Given the description of an element on the screen output the (x, y) to click on. 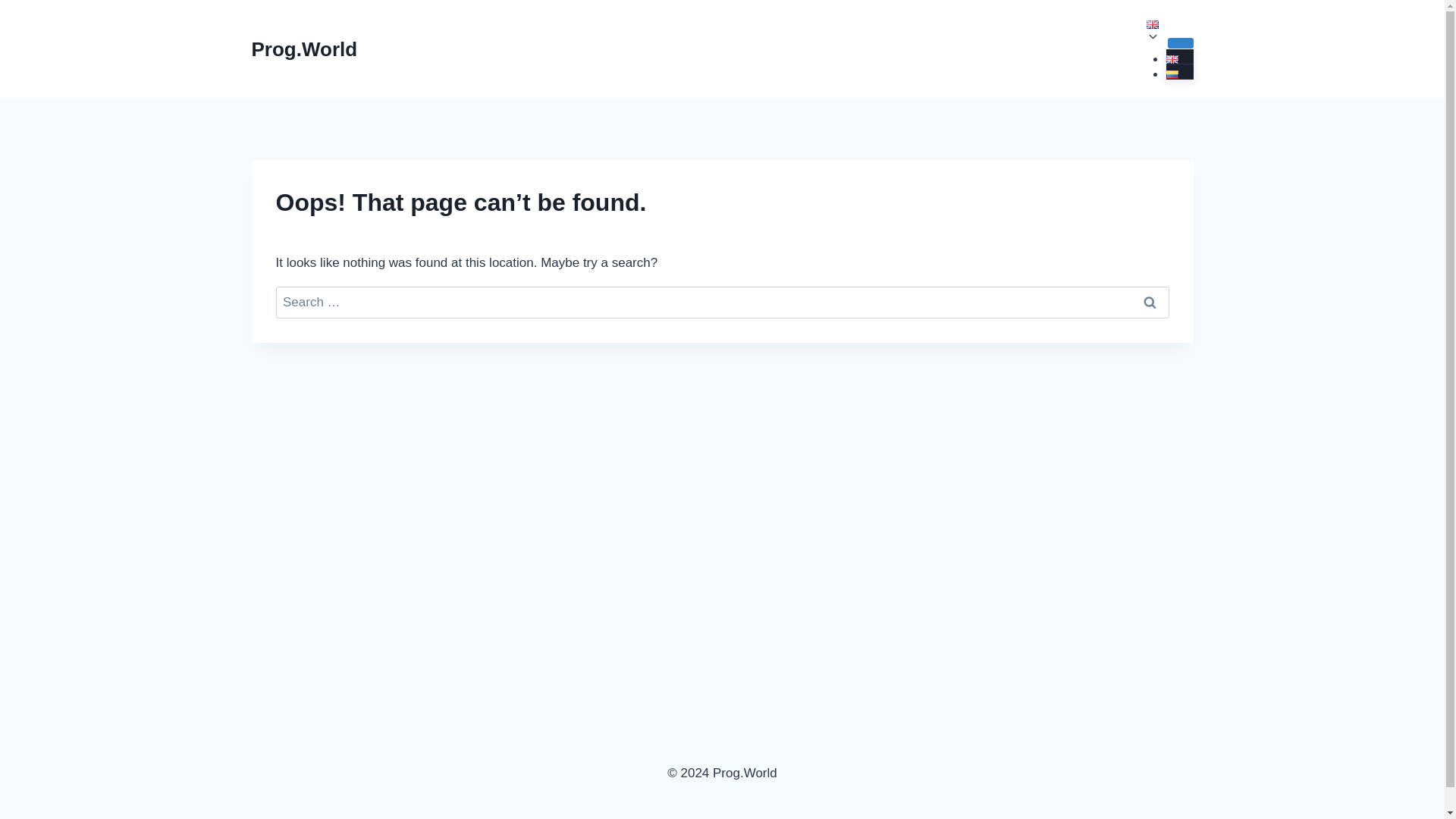
Search (1150, 302)
Prog.World (304, 49)
Search (1150, 302)
Search (1150, 302)
